Given the description of an element on the screen output the (x, y) to click on. 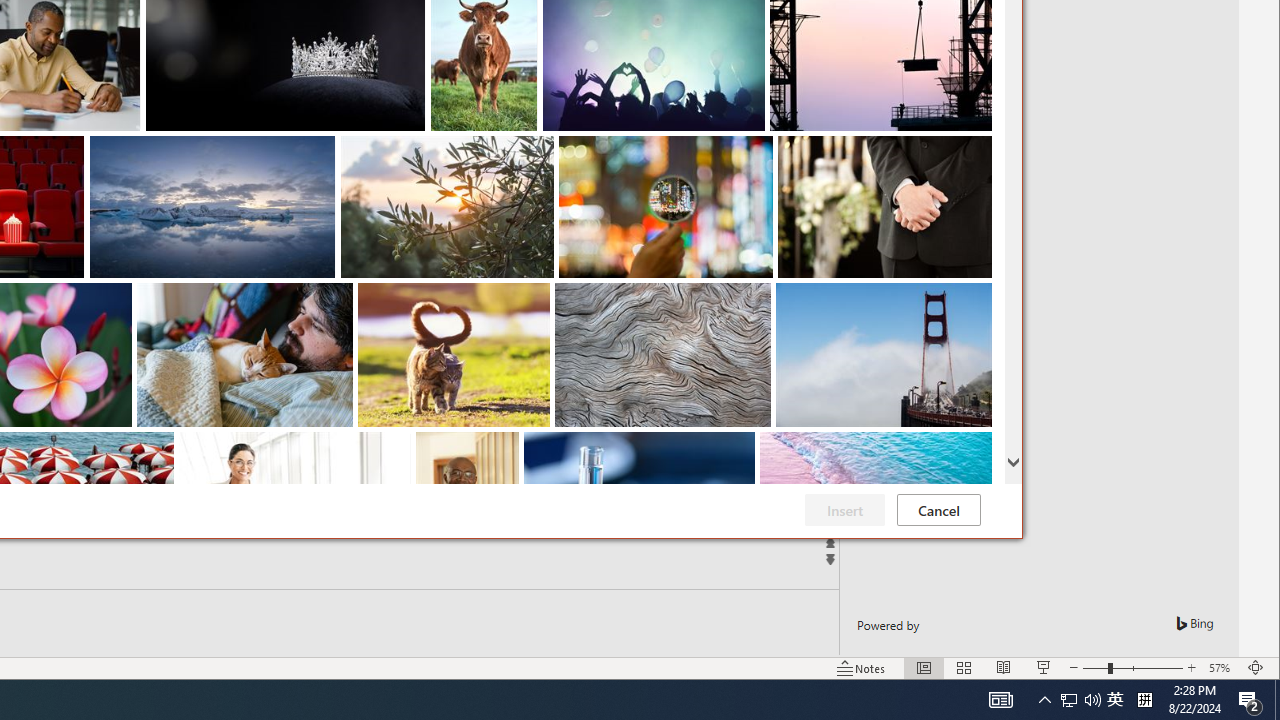
Cancel (938, 509)
